Given the description of an element on the screen output the (x, y) to click on. 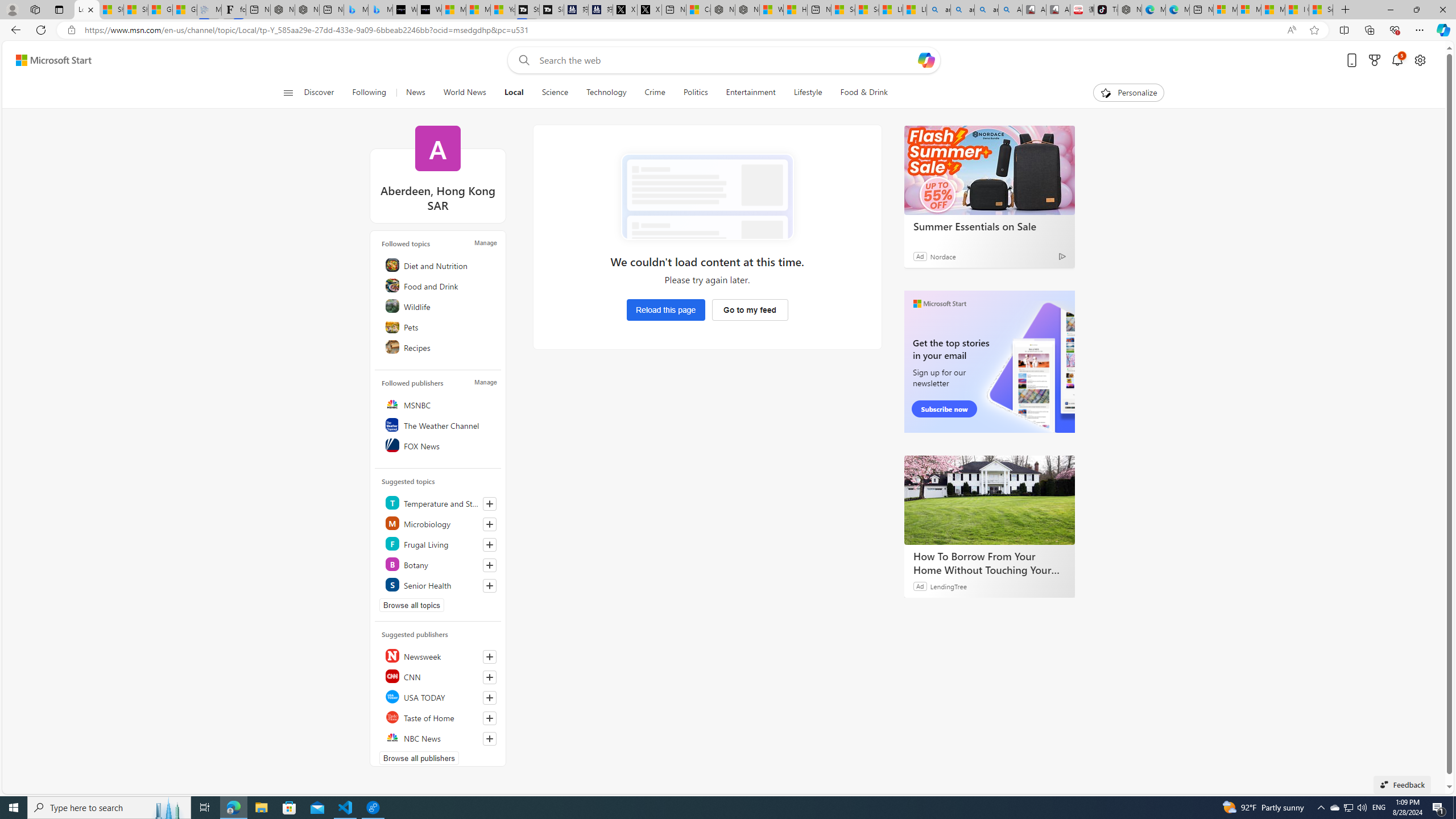
World News (464, 92)
Recipes (439, 346)
Enter your search term (726, 59)
Web search (520, 60)
Class: button-glyph (287, 92)
All Cubot phones (1057, 9)
Manage (485, 382)
